Given the description of an element on the screen output the (x, y) to click on. 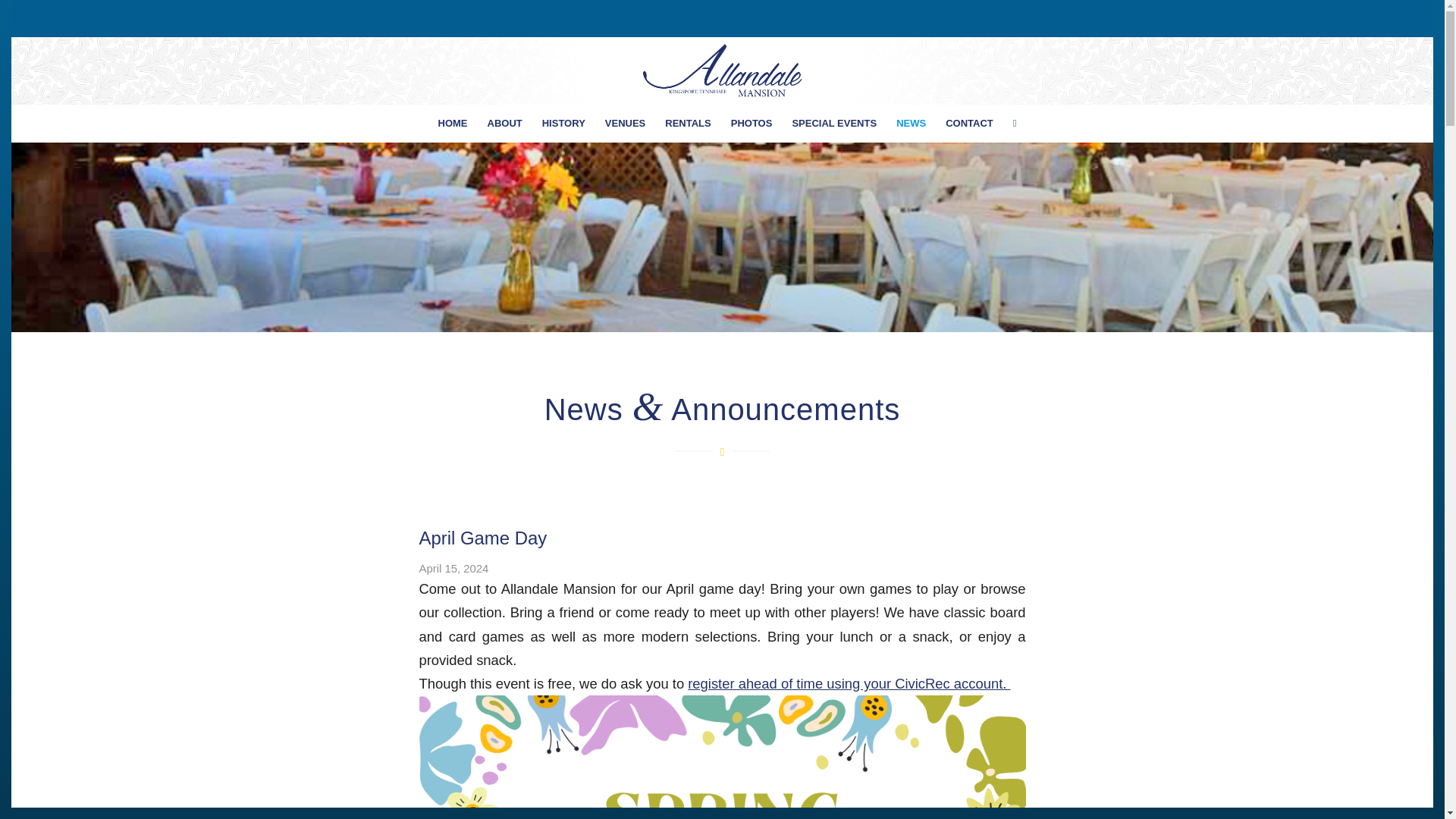
HISTORY (563, 123)
PHOTOS (751, 123)
NEWS (911, 123)
Permanent Link: April Game Day (483, 537)
ABOUT (504, 123)
SPECIAL EVENTS (833, 123)
VENUES (625, 123)
register ahead of time using your CivicRec account.  (848, 683)
HOME (452, 123)
CONTACT (969, 123)
April Game Day (483, 537)
RENTALS (687, 123)
